Given the description of an element on the screen output the (x, y) to click on. 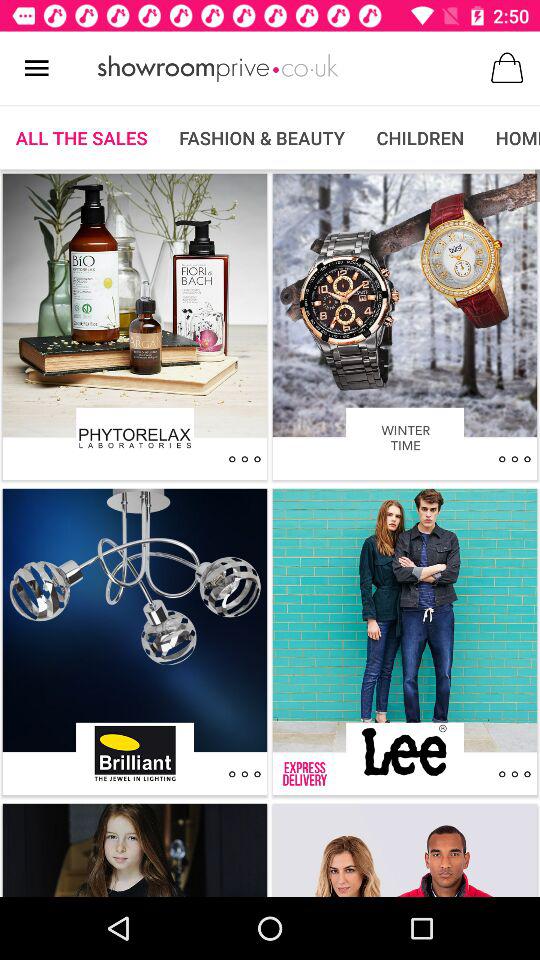
click to see more details (244, 459)
